Given the description of an element on the screen output the (x, y) to click on. 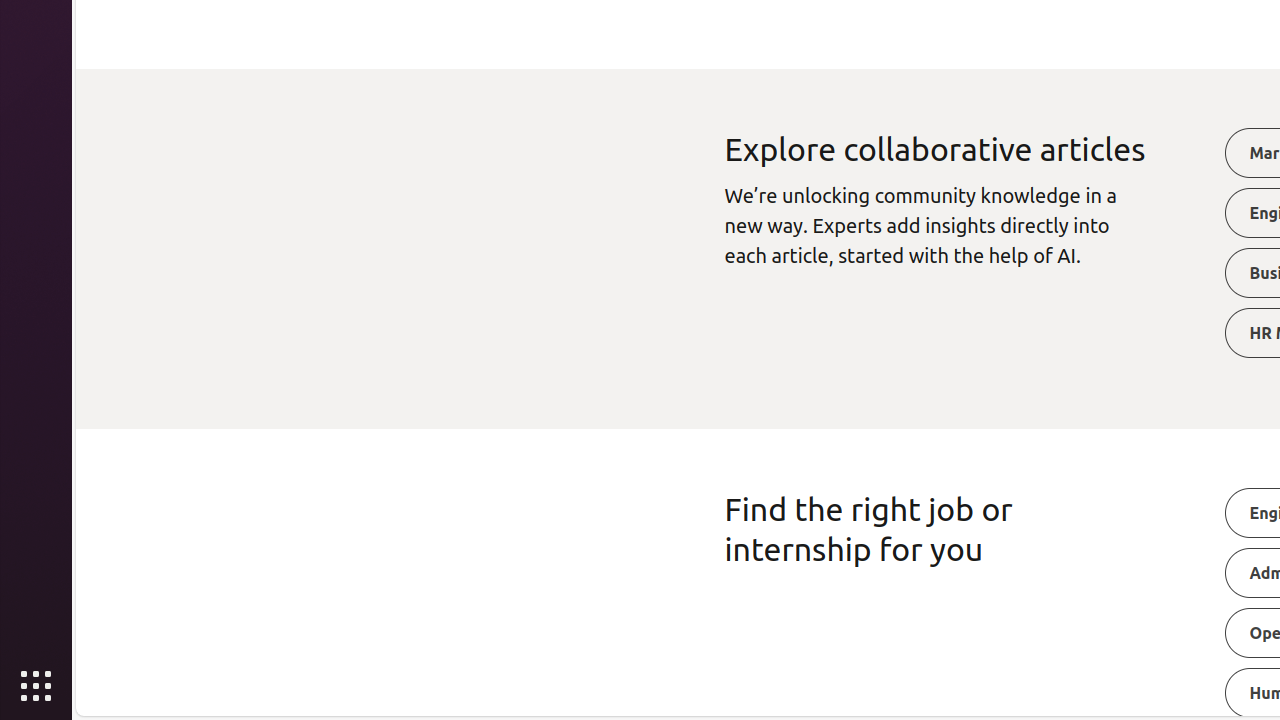
Show Applications Element type: toggle-button (36, 686)
